Given the description of an element on the screen output the (x, y) to click on. 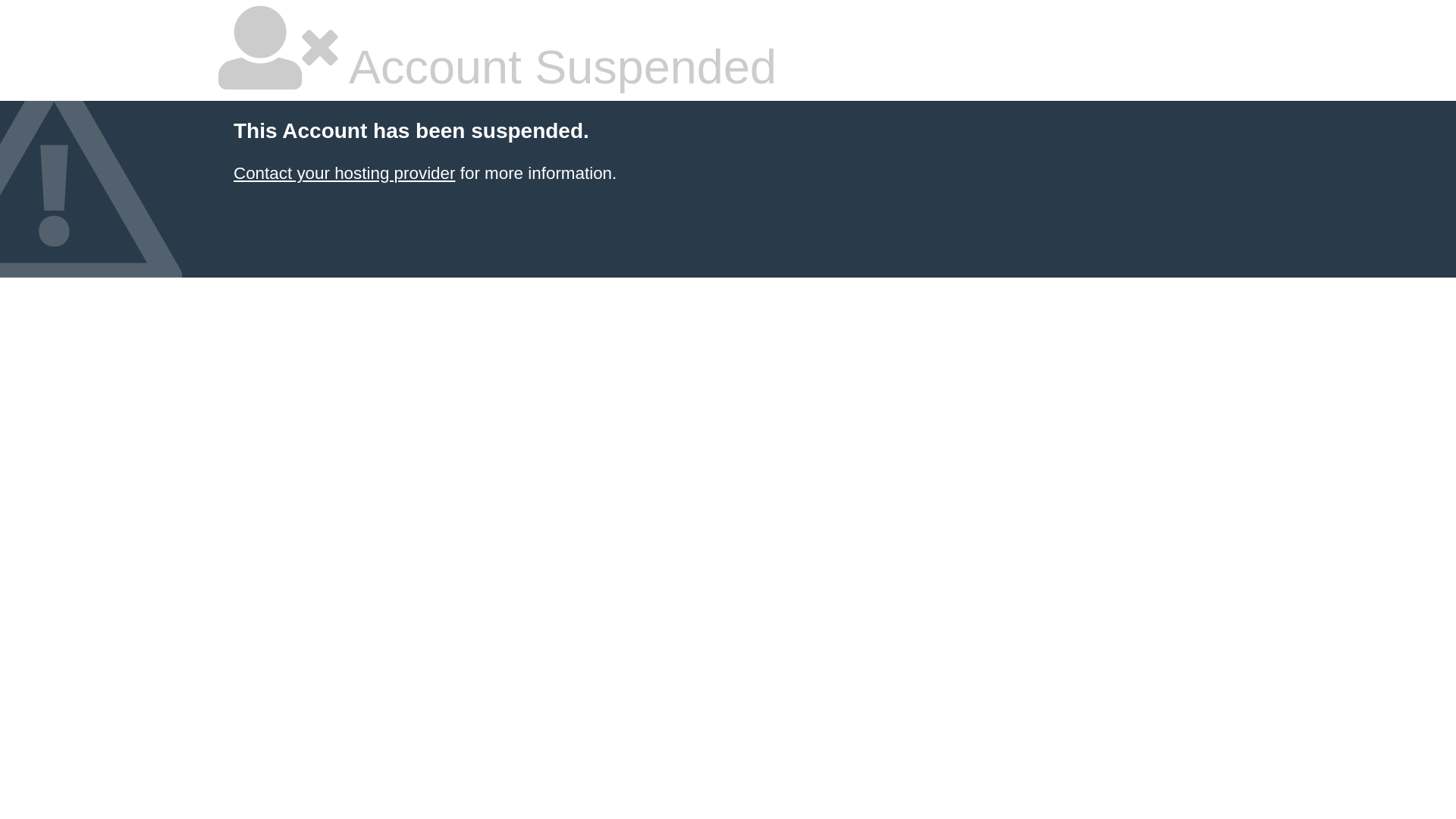
Contact your hosting provider Element type: text (344, 172)
